Given the description of an element on the screen output the (x, y) to click on. 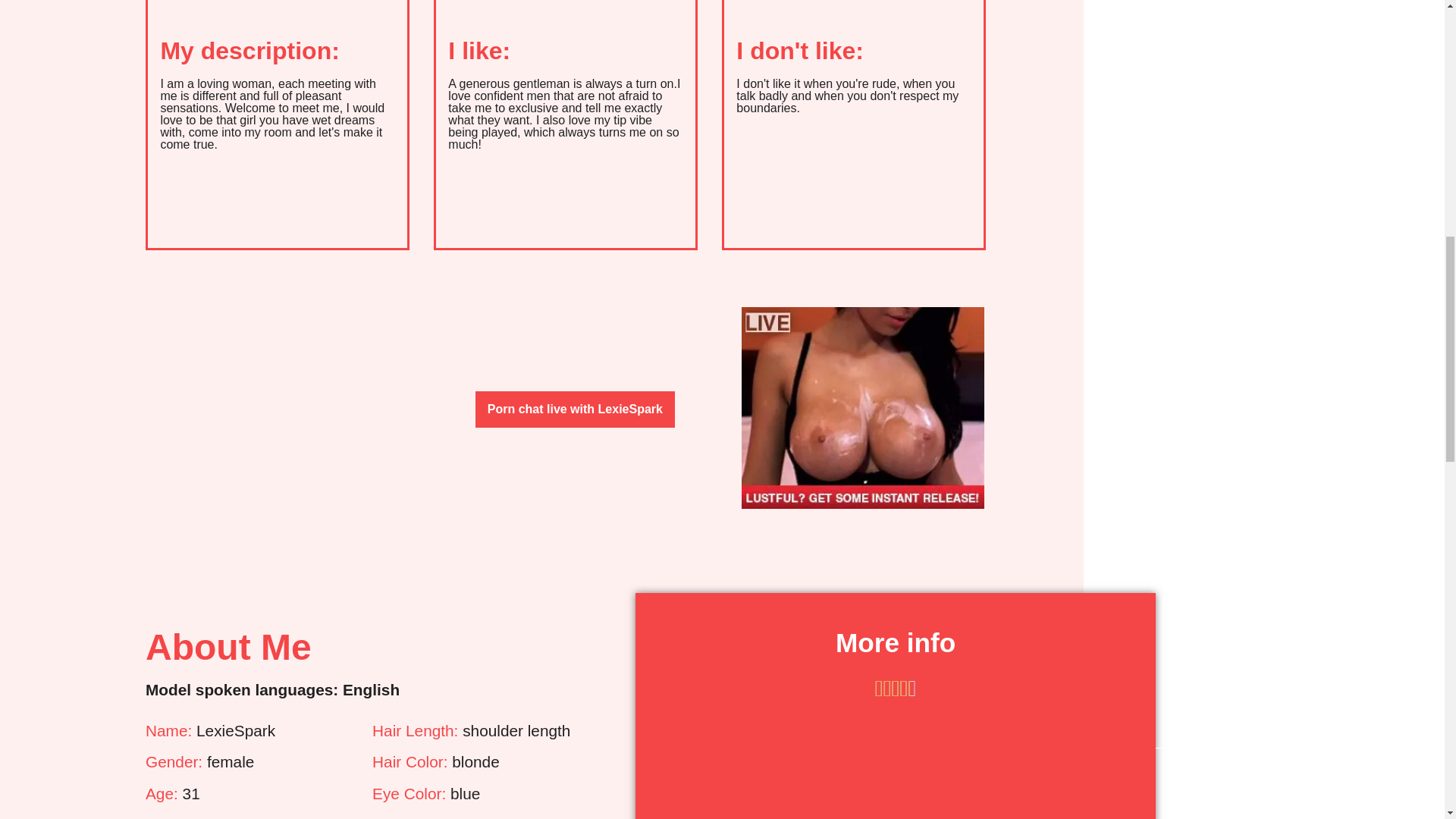
Porn chat live with LexieSpark (575, 409)
